Given the description of an element on the screen output the (x, y) to click on. 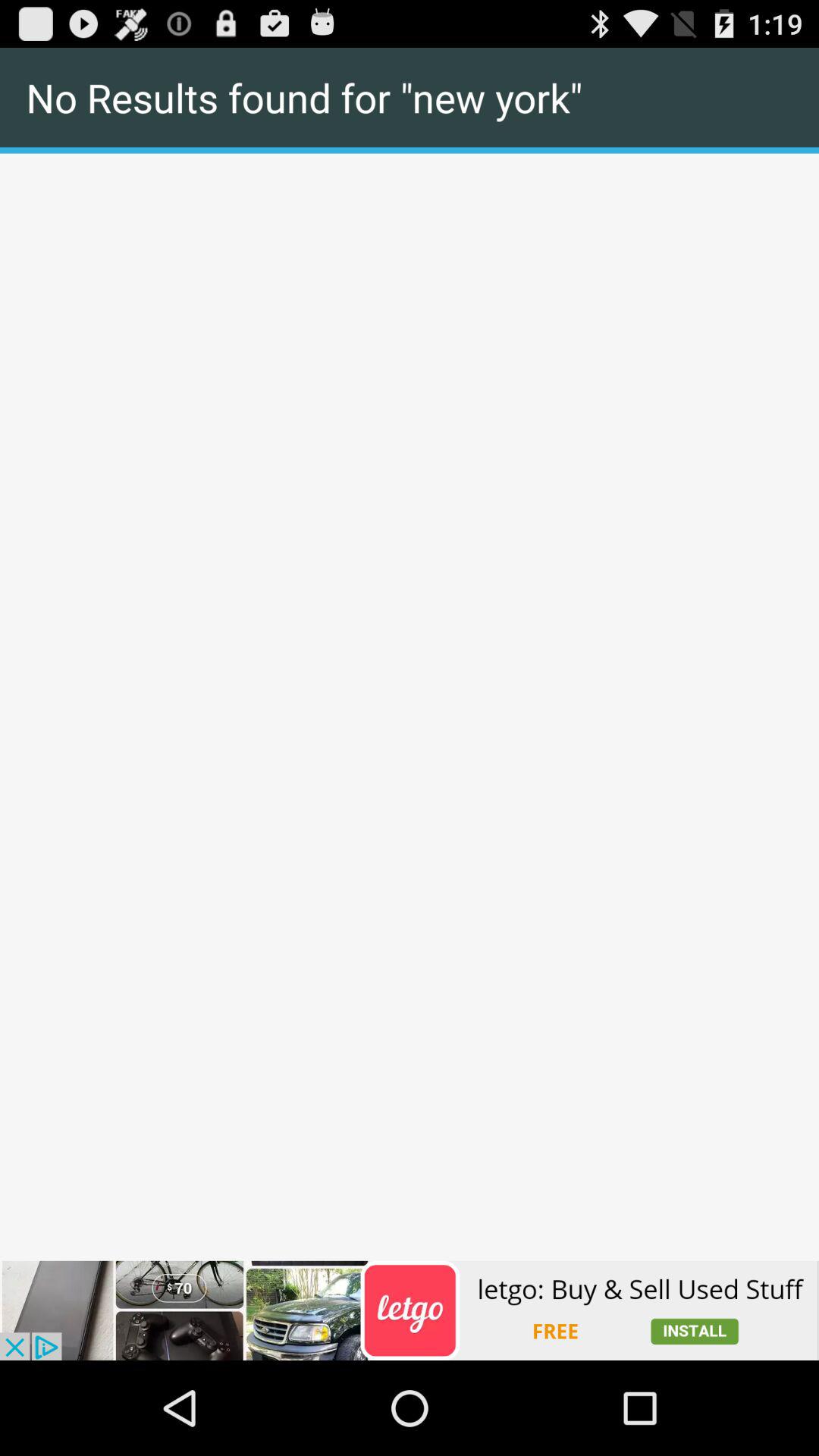
box (409, 154)
